Given the description of an element on the screen output the (x, y) to click on. 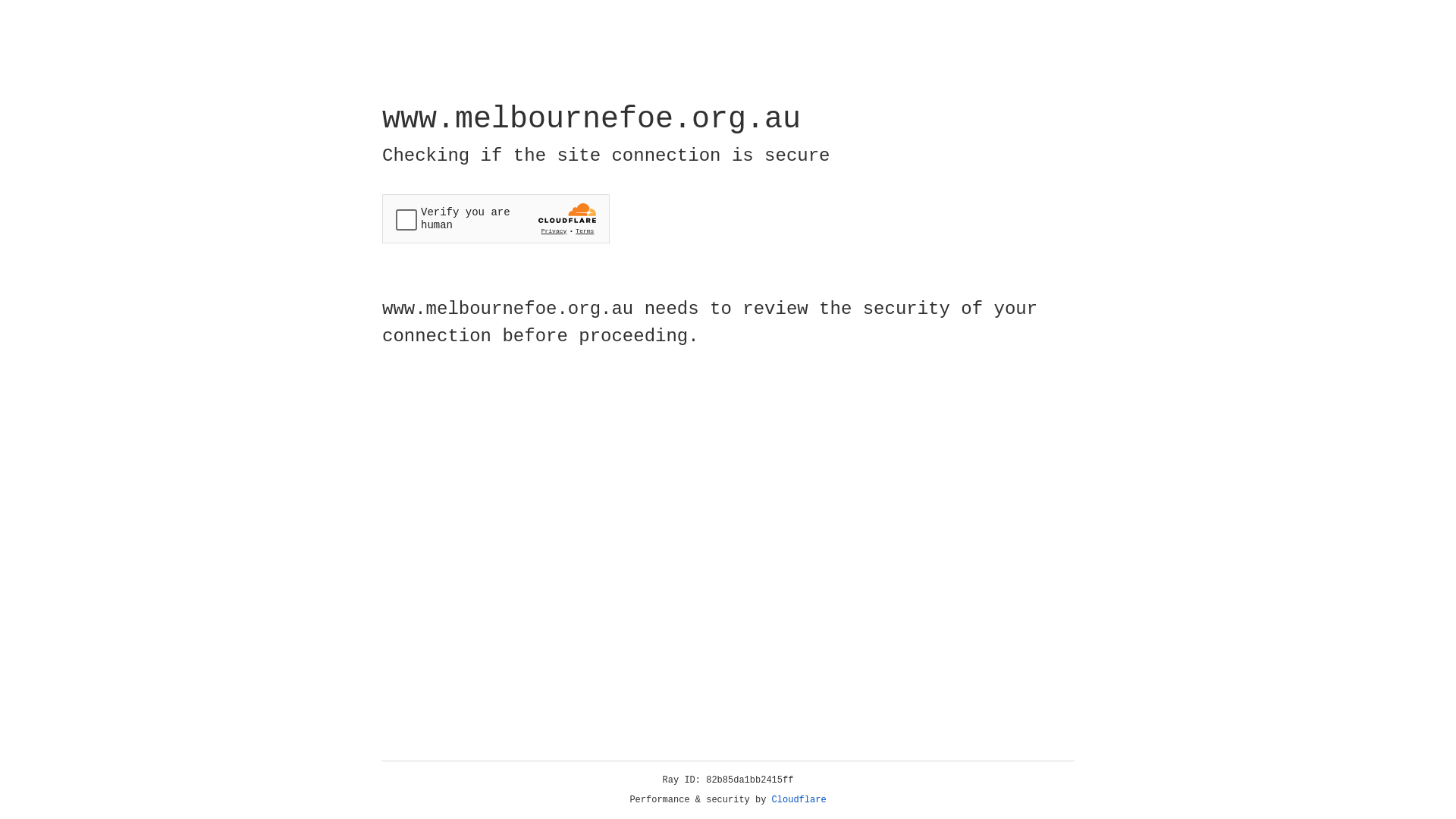
Cloudflare Element type: text (798, 799)
Widget containing a Cloudflare security challenge Element type: hover (495, 218)
